Given the description of an element on the screen output the (x, y) to click on. 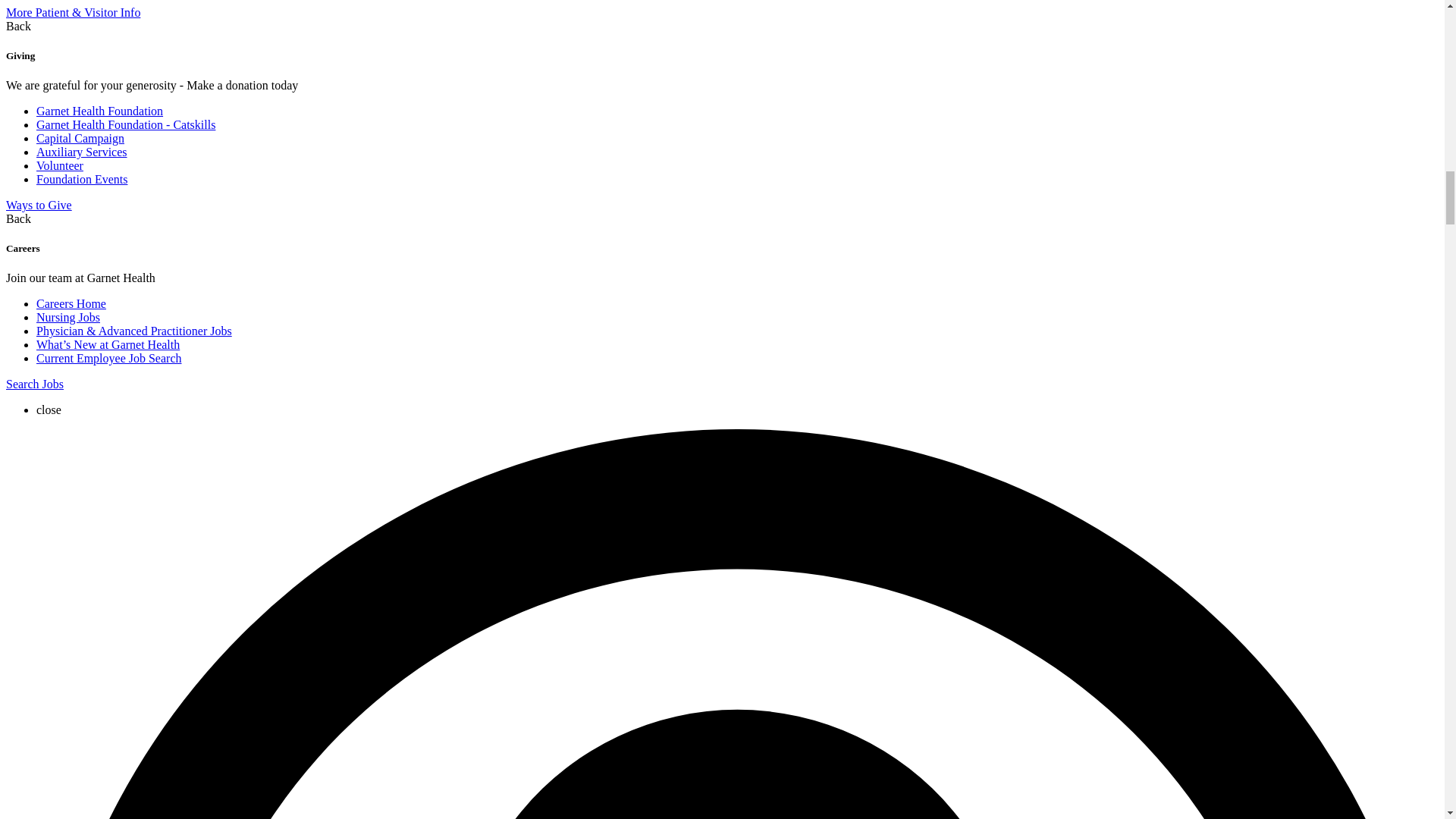
Go back (17, 218)
Volunteer (59, 164)
Close menu (48, 409)
Go back (17, 25)
Capital Campaign (79, 137)
Auxiliary Services (82, 151)
Garnet Health Foundation - Catskills (125, 124)
Back (17, 25)
Garnet Health Foundation (99, 110)
